Given the description of an element on the screen output the (x, y) to click on. 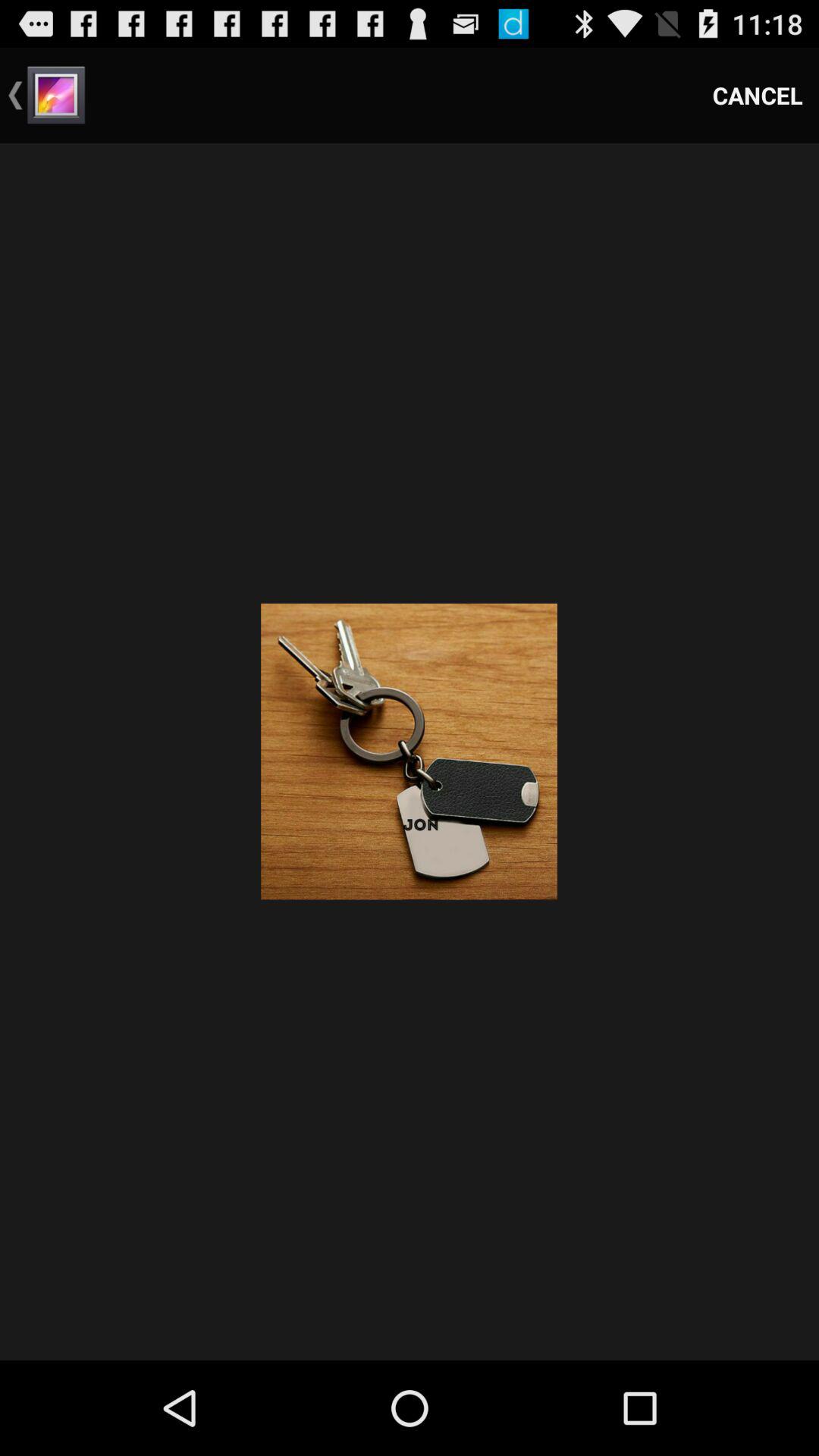
swipe until the cancel icon (757, 95)
